Given the description of an element on the screen output the (x, y) to click on. 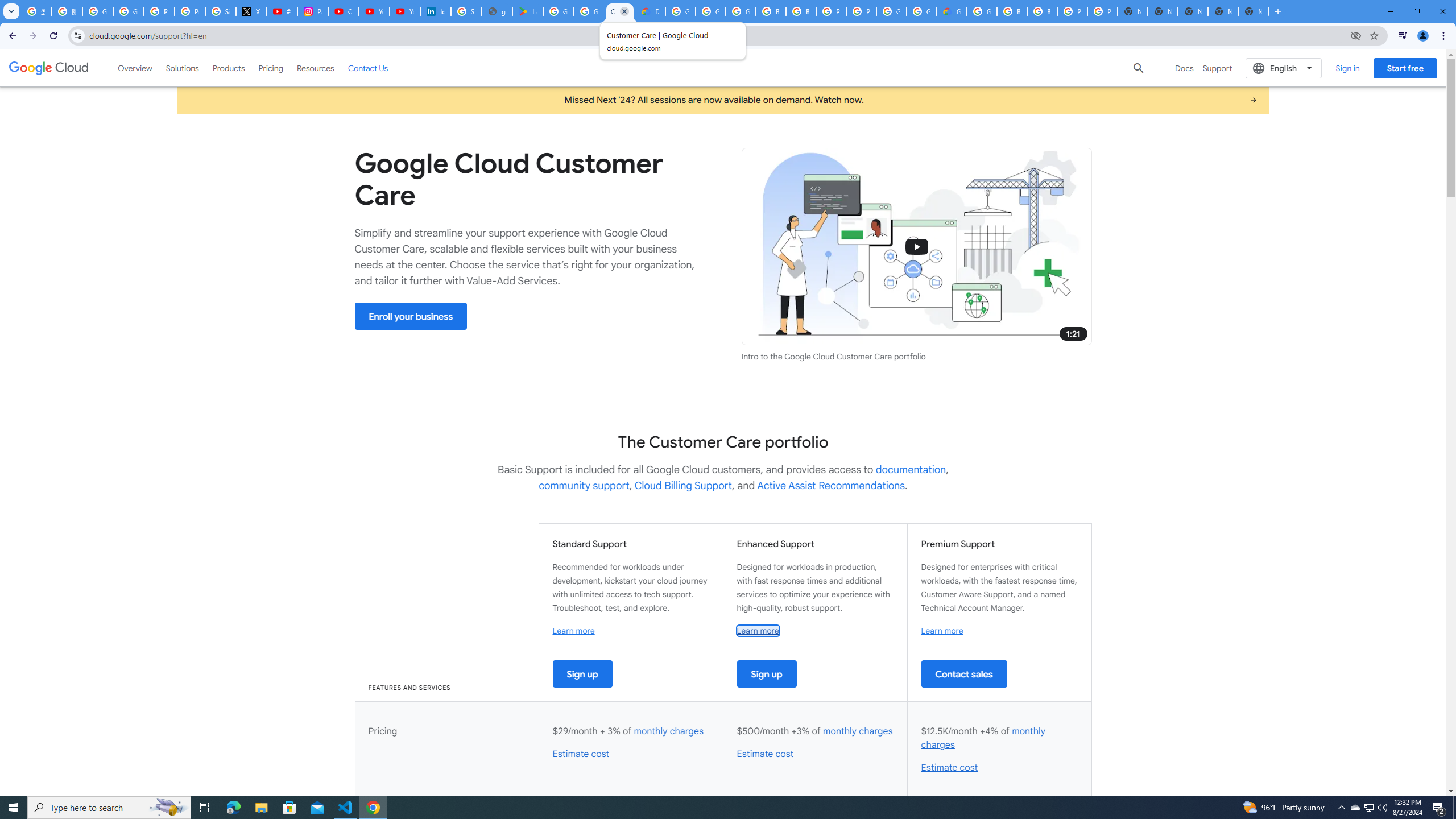
Browse Chrome as a guest - Computer - Google Chrome Help (1011, 11)
Pricing (270, 67)
Support (1216, 67)
Support illustration (916, 246)
Google Workspace - Specific Terms (589, 11)
Learn more (941, 630)
Start free (1405, 67)
Solutions (181, 67)
